Given the description of an element on the screen output the (x, y) to click on. 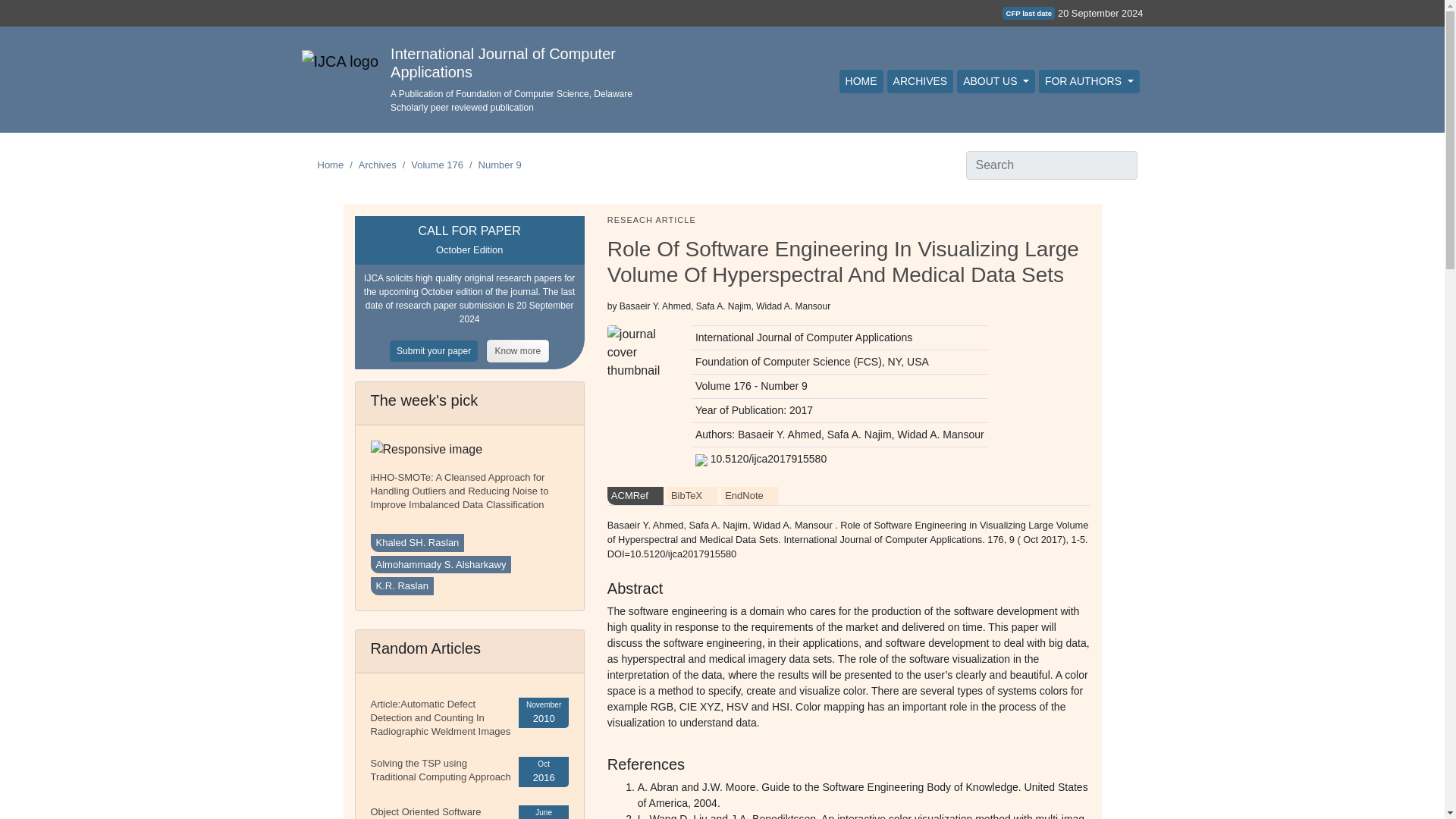
ARCHIVES (919, 81)
ABOUT US (995, 81)
Almohammady S. Alsharkawy (440, 565)
ACMRef (635, 495)
Submit your paper (438, 349)
Khaled SH. Raslan (416, 542)
HOME (861, 81)
Know more (518, 349)
